Given the description of an element on the screen output the (x, y) to click on. 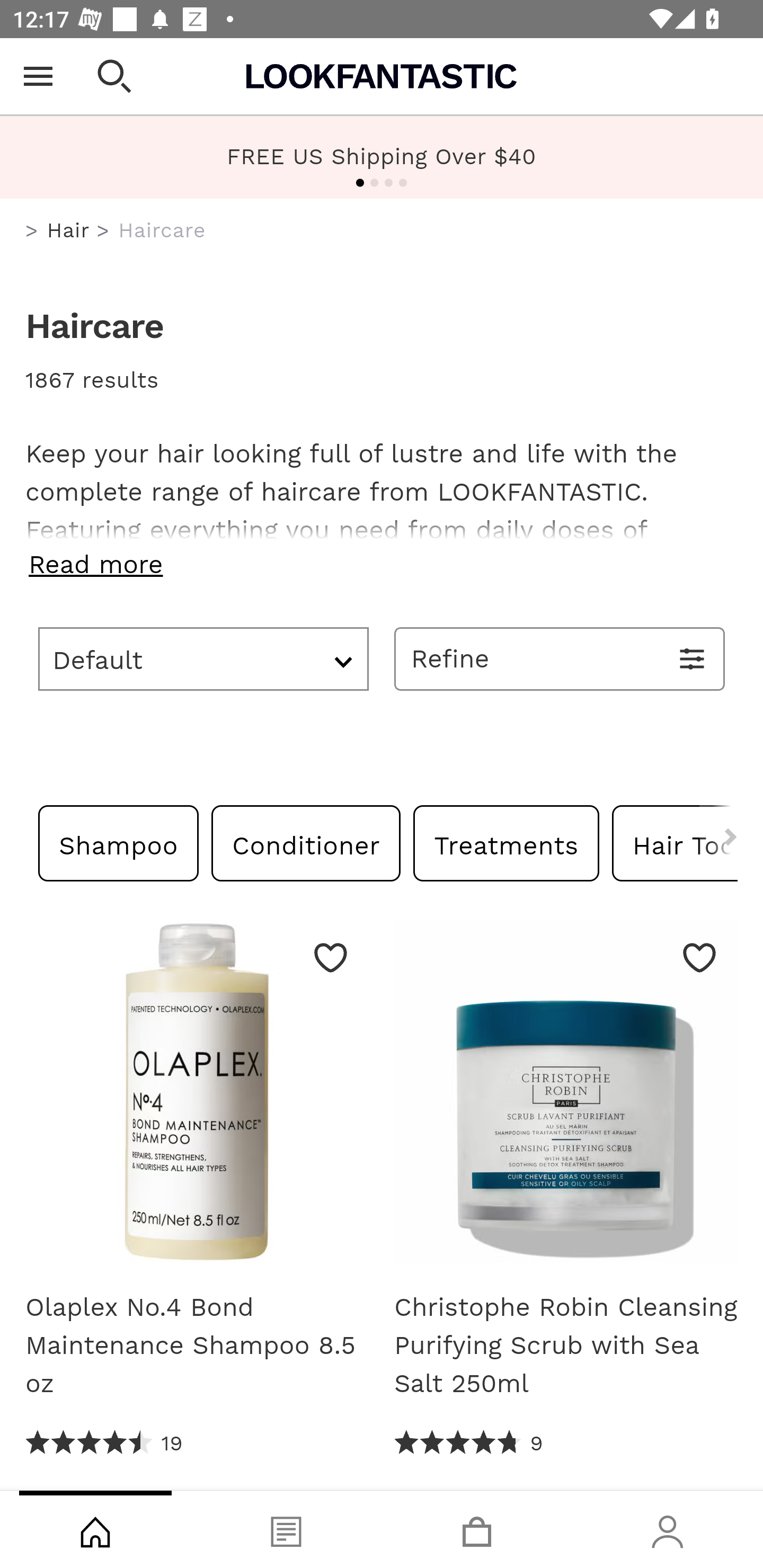
Open Menu (38, 75)
Open search (114, 75)
Lookfantastic USA (381, 75)
FREE US Shipping Over $40 (381, 157)
FREE US Shipping Over $40 (381, 155)
us.lookfantastic (32, 230)
Hair (67, 230)
Read more (381, 564)
Default (203, 658)
Refine (559, 658)
Shop Shampoo (118, 842)
Shop Conditioner (306, 842)
Shop Treatments (505, 842)
Shop Hair Tools (673, 842)
Olaplex No.4 Bond Maintenance Shampoo 8.5 oz (196, 1097)
Save to Wishlist (330, 957)
Save to Wishlist (698, 957)
Olaplex No.4 Bond Maintenance Shampoo 8.5 oz (196, 1344)
4.53 Stars 19 Reviews (104, 1442)
4.78 Stars 9 Reviews (468, 1442)
Shop, tab, 1 of 4 (95, 1529)
Blog, tab, 2 of 4 (285, 1529)
Basket, tab, 3 of 4 (476, 1529)
Account, tab, 4 of 4 (667, 1529)
